Given the description of an element on the screen output the (x, y) to click on. 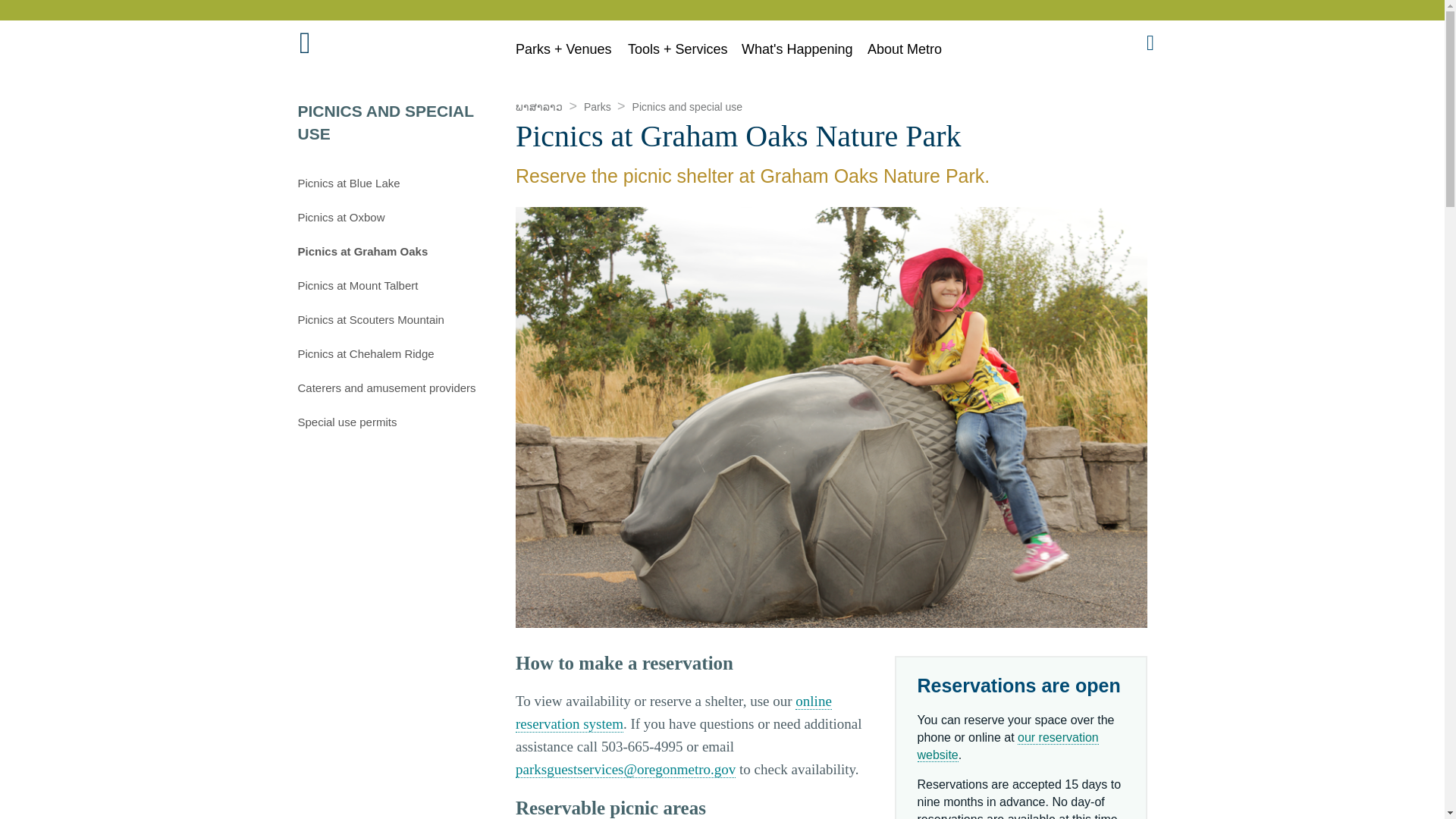
Metro (341, 47)
